Given the description of an element on the screen output the (x, y) to click on. 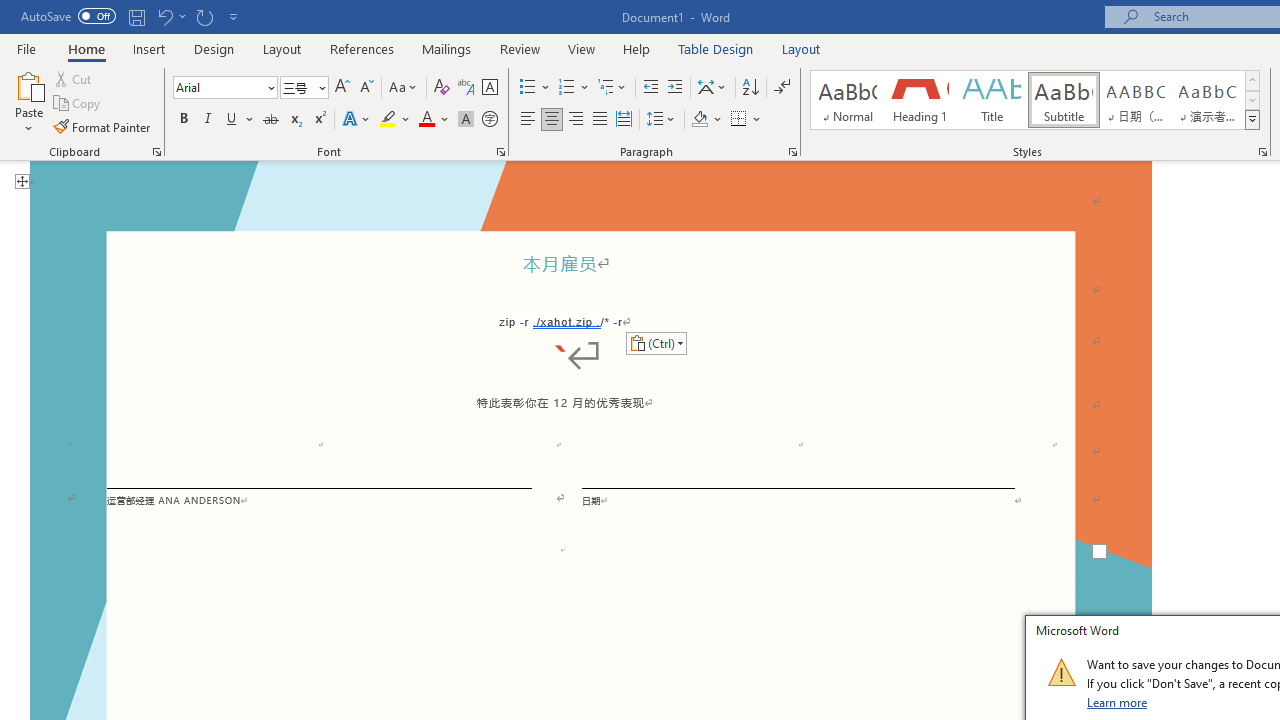
Office Clipboard... (156, 151)
Enclose Characters... (489, 119)
Numbering (566, 87)
Heading 1 (920, 100)
Show/Hide Editing Marks (781, 87)
Strikethrough (270, 119)
Text Effects and Typography (357, 119)
Open (320, 87)
Repeat Doc Close (204, 15)
Paste (28, 84)
Grow Font (342, 87)
Copy (78, 103)
Learn more (1118, 702)
Align Left (527, 119)
